Given the description of an element on the screen output the (x, y) to click on. 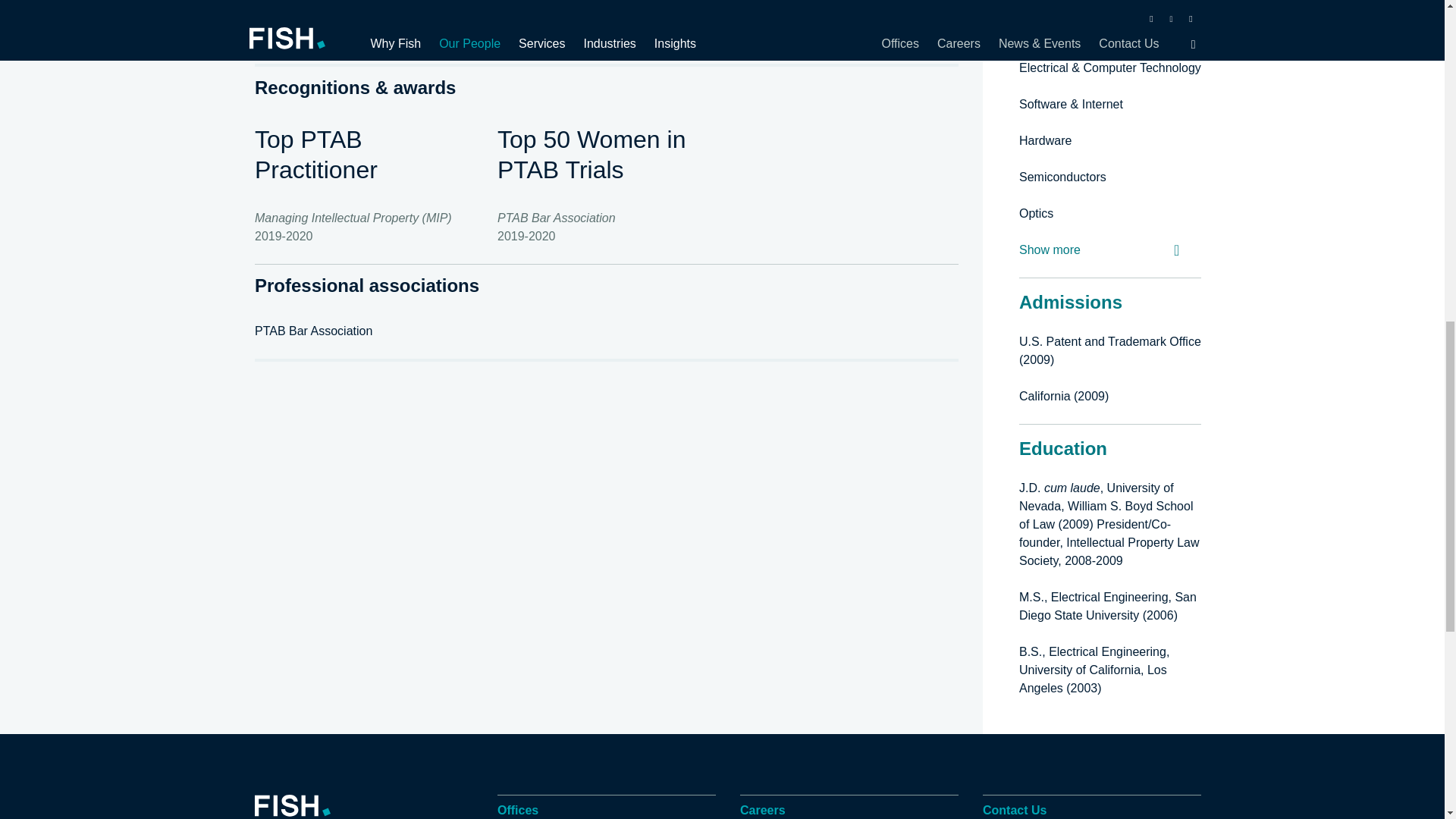
Show more (301, 36)
